Given the description of an element on the screen output the (x, y) to click on. 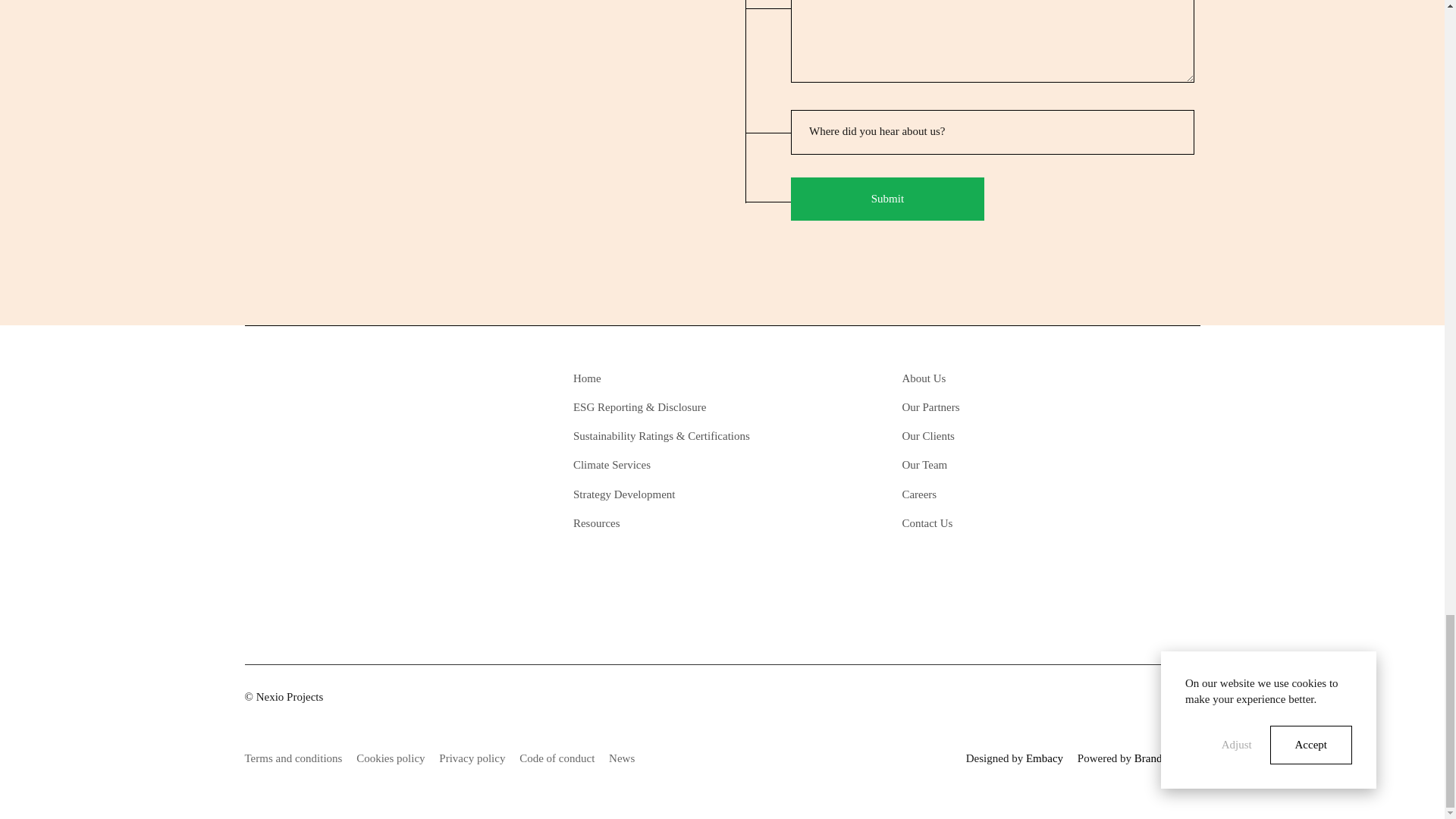
Our Partners (1000, 407)
Careers (1000, 493)
Submit (887, 198)
About Us (1000, 378)
Our Team (1000, 465)
Home (671, 378)
Resources (671, 522)
Cookies policy (390, 758)
Submit (887, 198)
Contact Us (1000, 522)
Climate Services (671, 465)
Strategy Development (671, 493)
Our Clients (1000, 436)
Terms and conditions (293, 758)
